Given the description of an element on the screen output the (x, y) to click on. 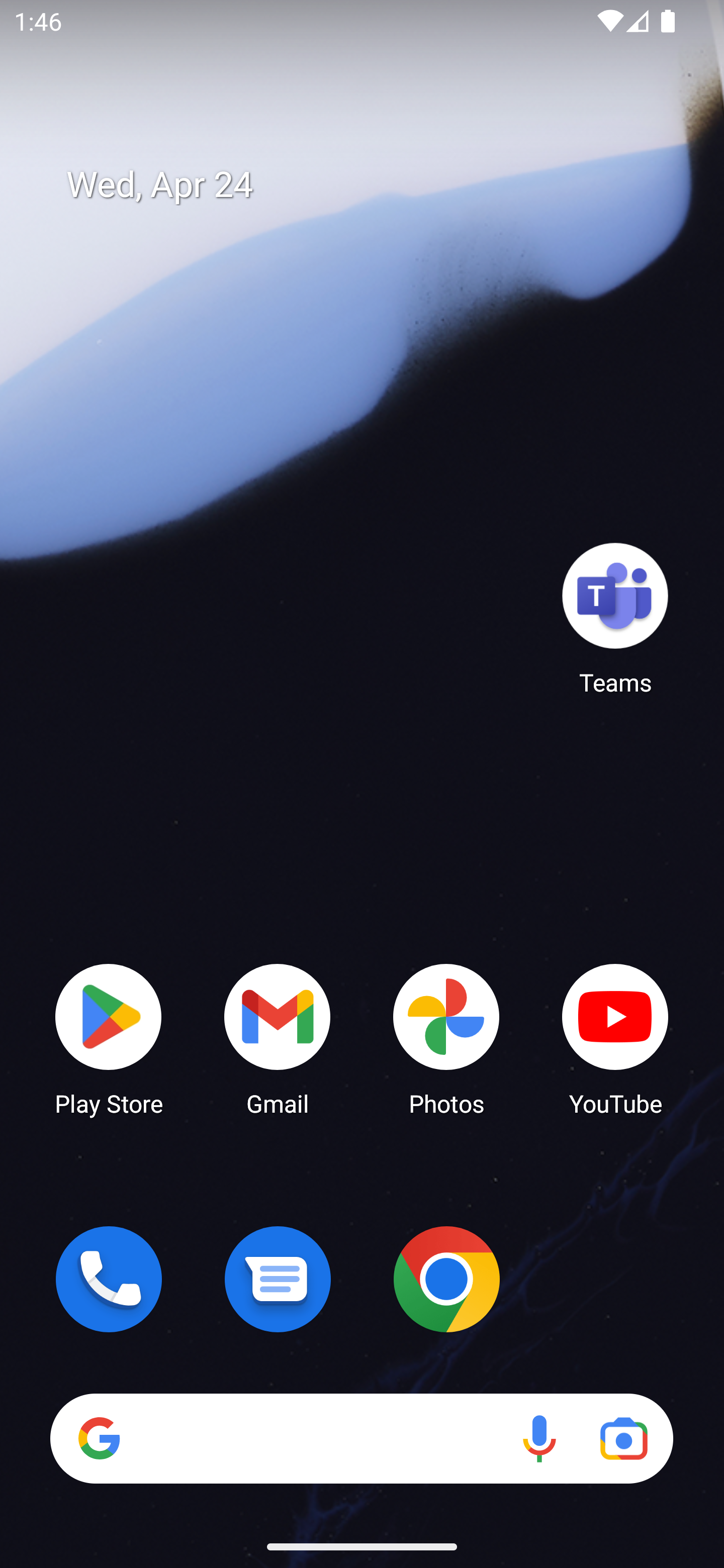
Wed, Apr 24 (375, 184)
Teams (615, 617)
Play Store (108, 1038)
Gmail (277, 1038)
Photos (445, 1038)
YouTube (615, 1038)
Phone (108, 1279)
Messages (277, 1279)
Chrome (446, 1279)
Search Voice search Google Lens (361, 1438)
Voice search (539, 1438)
Google Lens (623, 1438)
